Given the description of an element on the screen output the (x, y) to click on. 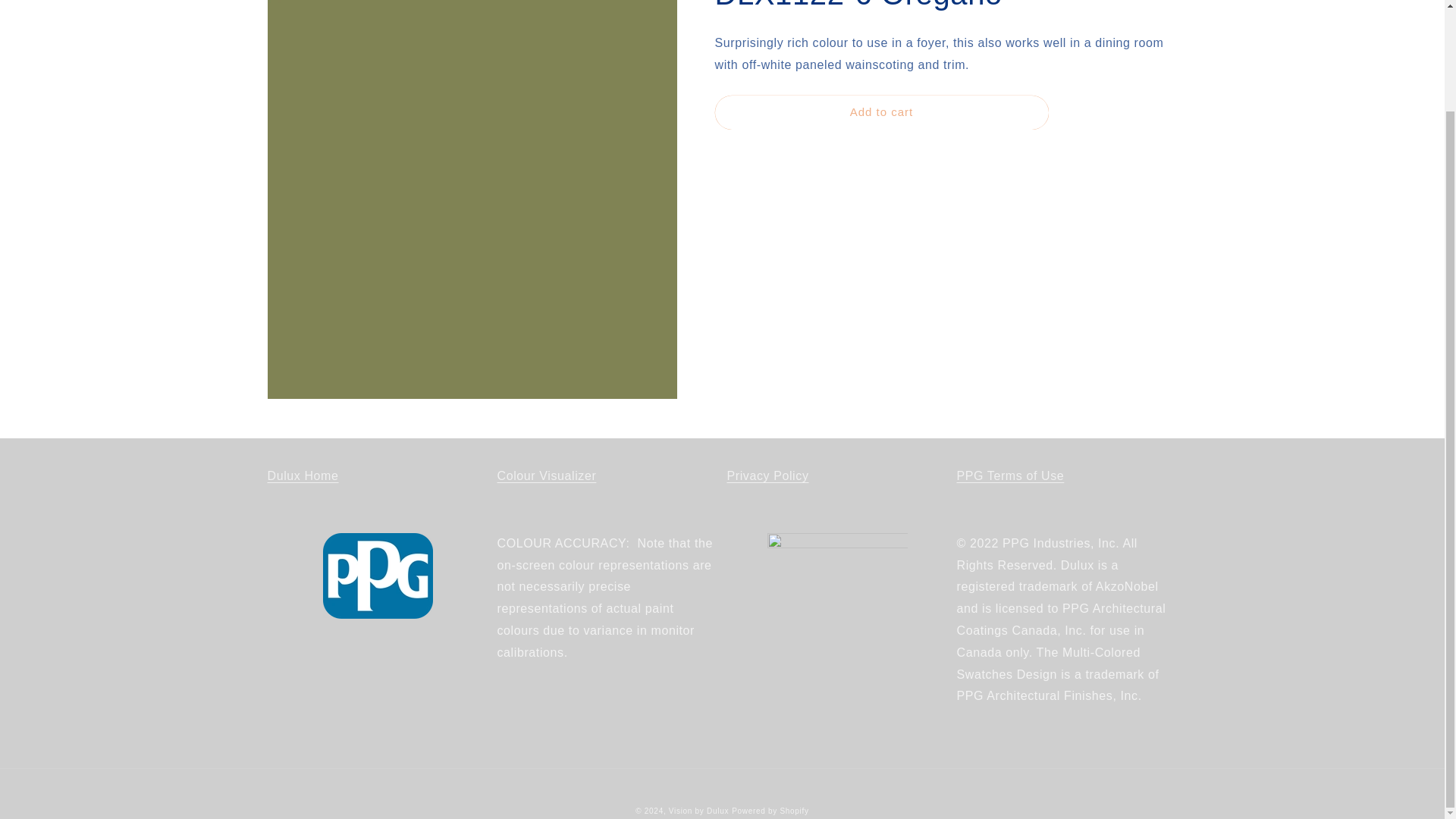
Dulux Home (301, 475)
PPG Terms of Use (1010, 475)
Add to cart (881, 112)
Colour Visualizer (546, 475)
Powered by Shopify (770, 810)
Privacy Policy (767, 475)
Vision by Dulux (698, 810)
Skip to product information (312, 3)
